Given the description of an element on the screen output the (x, y) to click on. 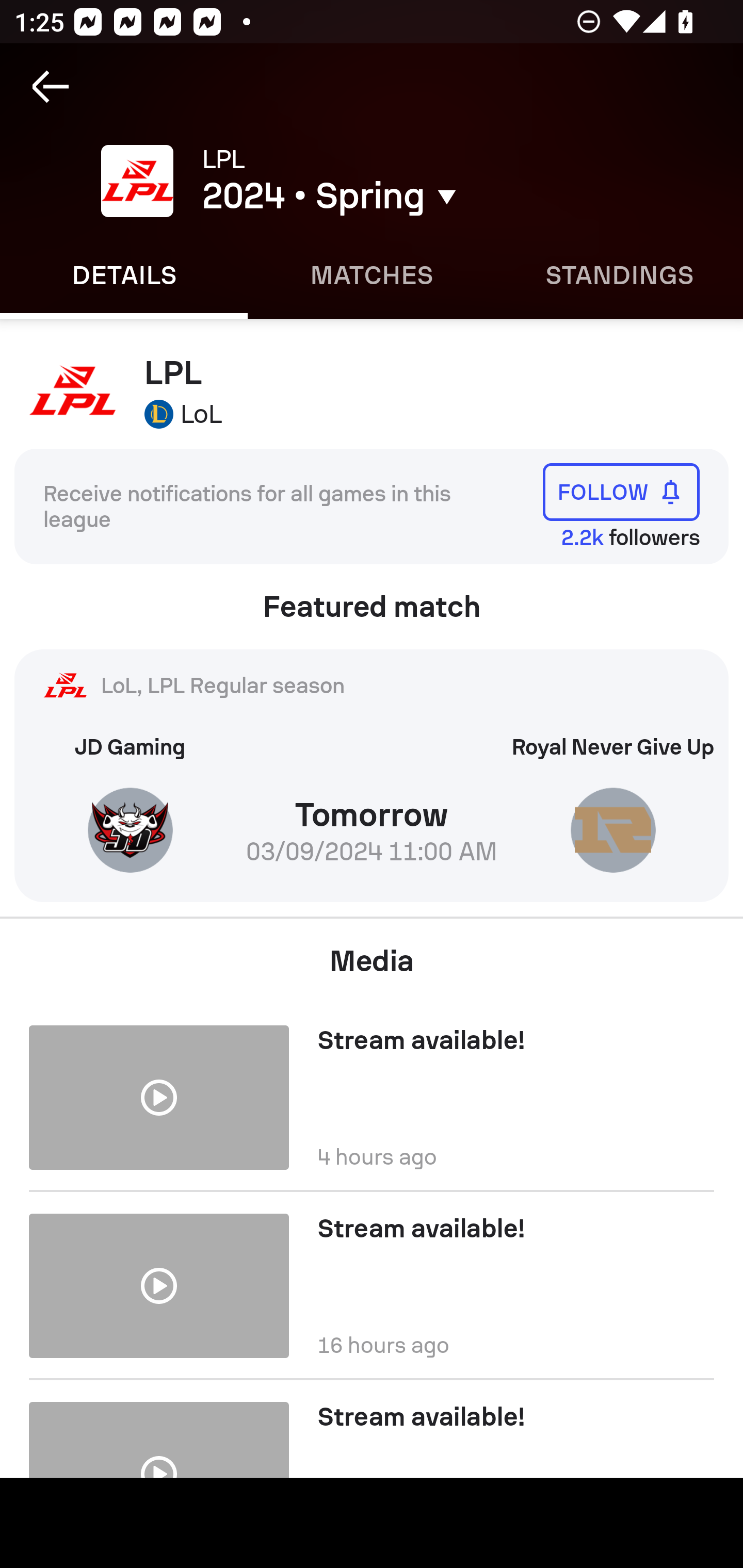
Navigate up (50, 86)
LPL 2024 • Spring (407, 181)
Matches MATCHES (371, 275)
Standings STANDINGS (619, 275)
FOLLOW (621, 491)
picture Stream available! picture 4 hours ago (371, 1090)
picture Stream available! picture 16 hours ago (371, 1285)
picture Stream available! picture (371, 1428)
